Given the description of an element on the screen output the (x, y) to click on. 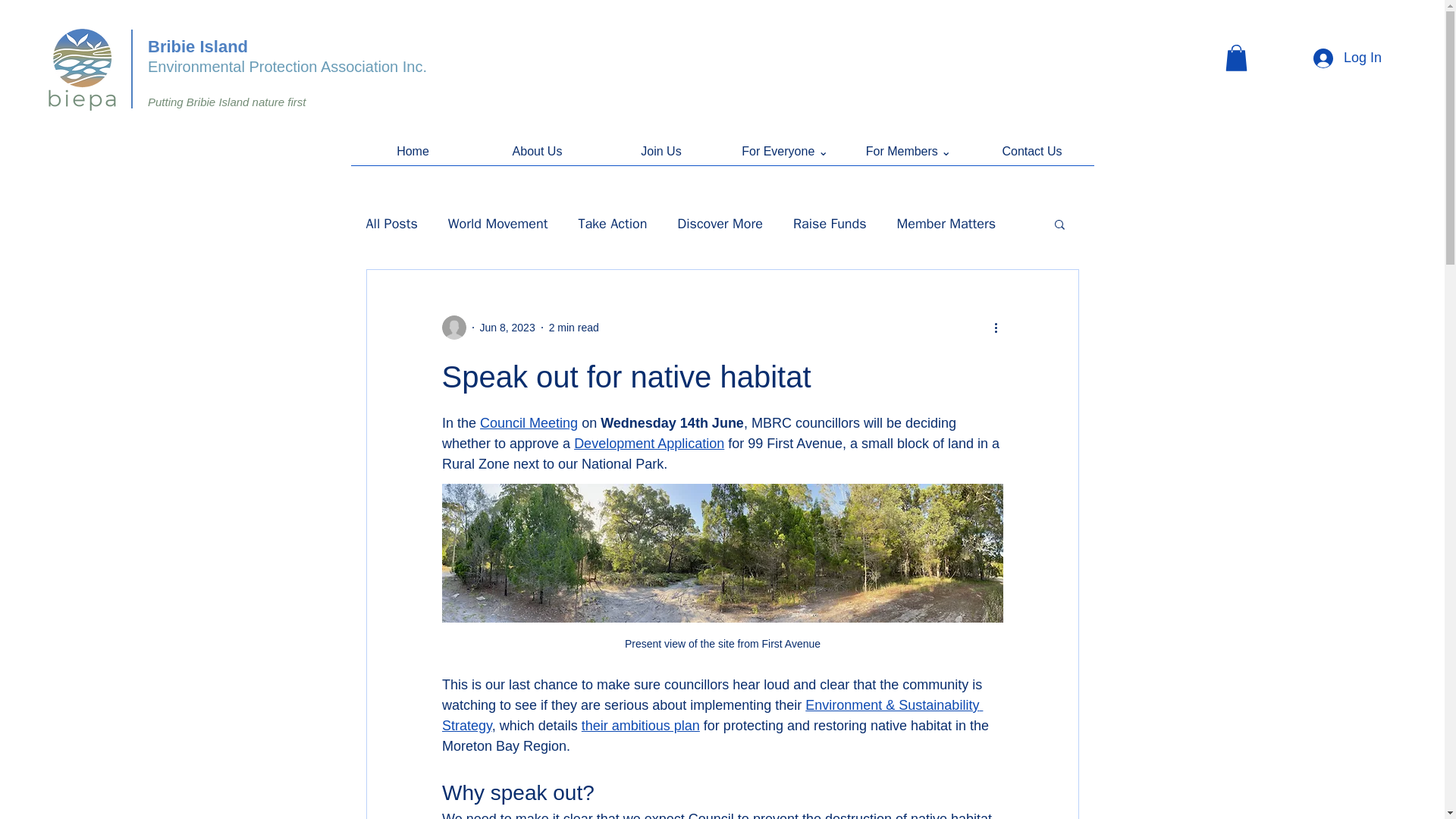
World Movement (498, 223)
Contact Us (1032, 156)
Environmental Protection Association Inc. (287, 66)
2 min read (573, 327)
All Posts (390, 223)
Discover More (719, 223)
Join Us (660, 156)
Take Action (612, 223)
Log In (1347, 58)
Member Matters (945, 223)
Raise Funds (829, 223)
About Us (536, 156)
Home (412, 156)
Bribie Island (197, 46)
Jun 8, 2023 (506, 327)
